Given the description of an element on the screen output the (x, y) to click on. 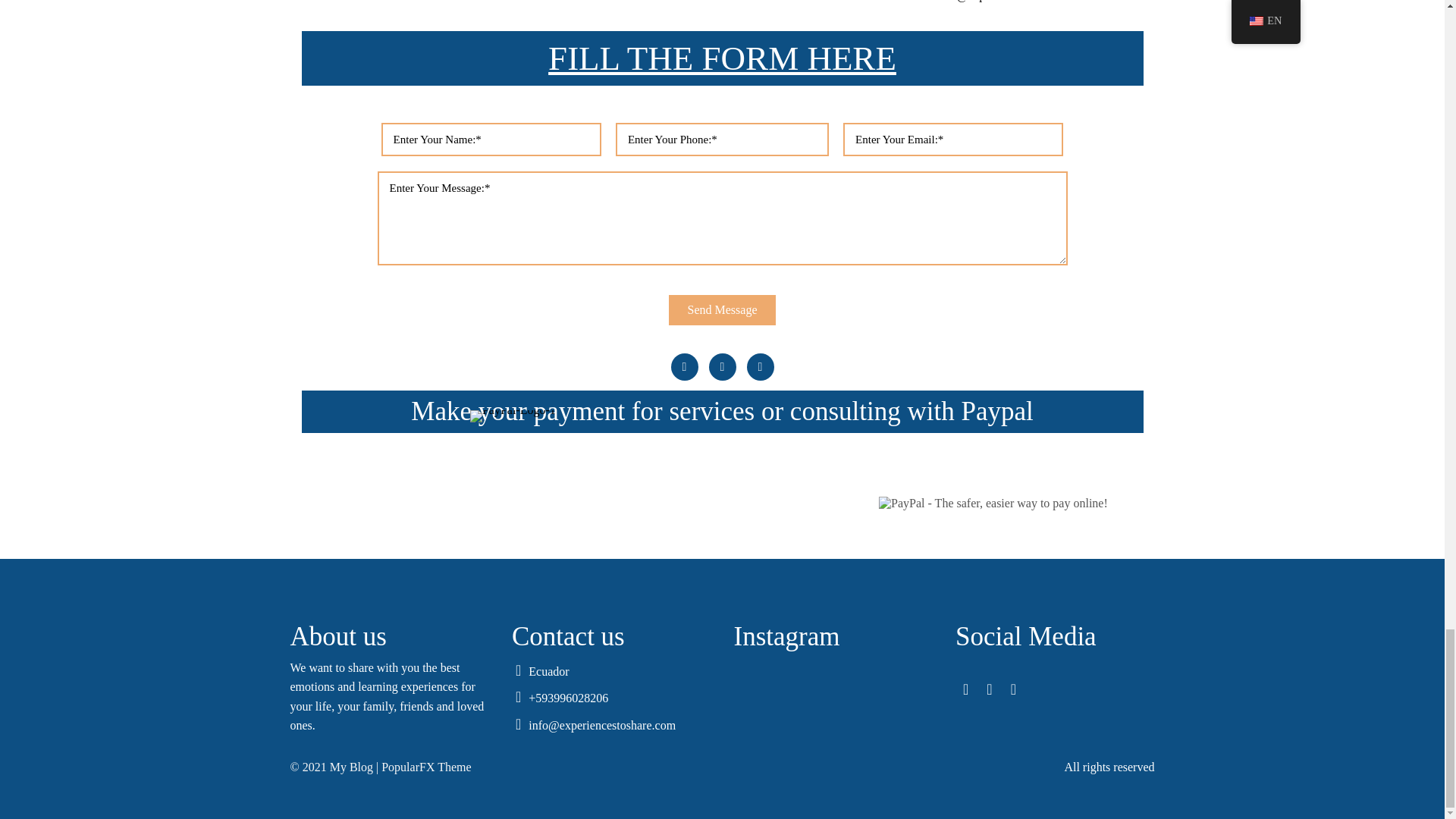
PopularFX Theme (425, 766)
All rights reserved (943, 767)
Send Message (721, 309)
PayPal-Logo-1 (513, 416)
